Given the description of an element on the screen output the (x, y) to click on. 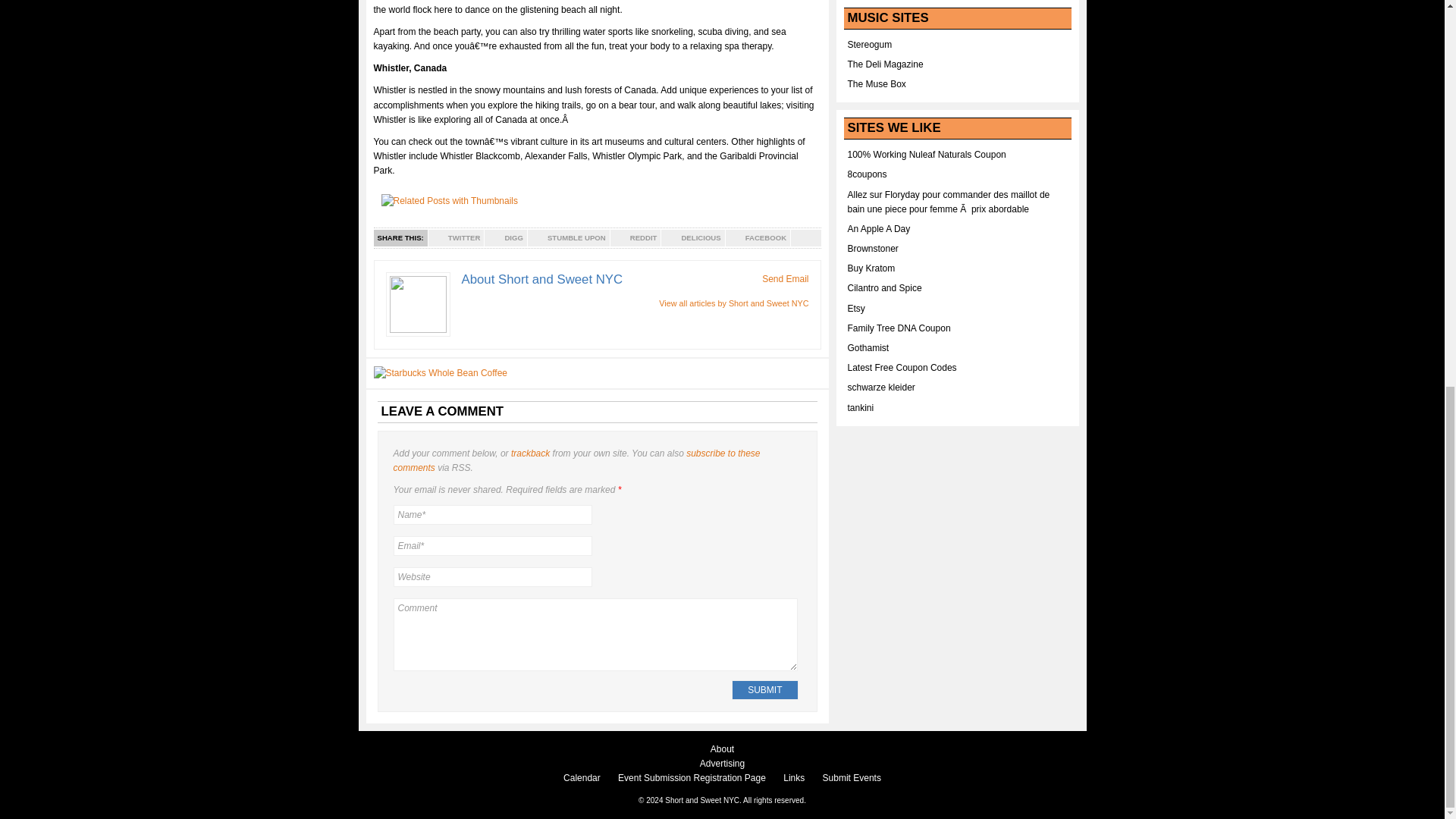
Verified Family Tree DNA Coupon (898, 327)
tankini (861, 407)
View all posts by Short and Sweet NYC (733, 302)
Website (492, 577)
Submit (764, 690)
